Given the description of an element on the screen output the (x, y) to click on. 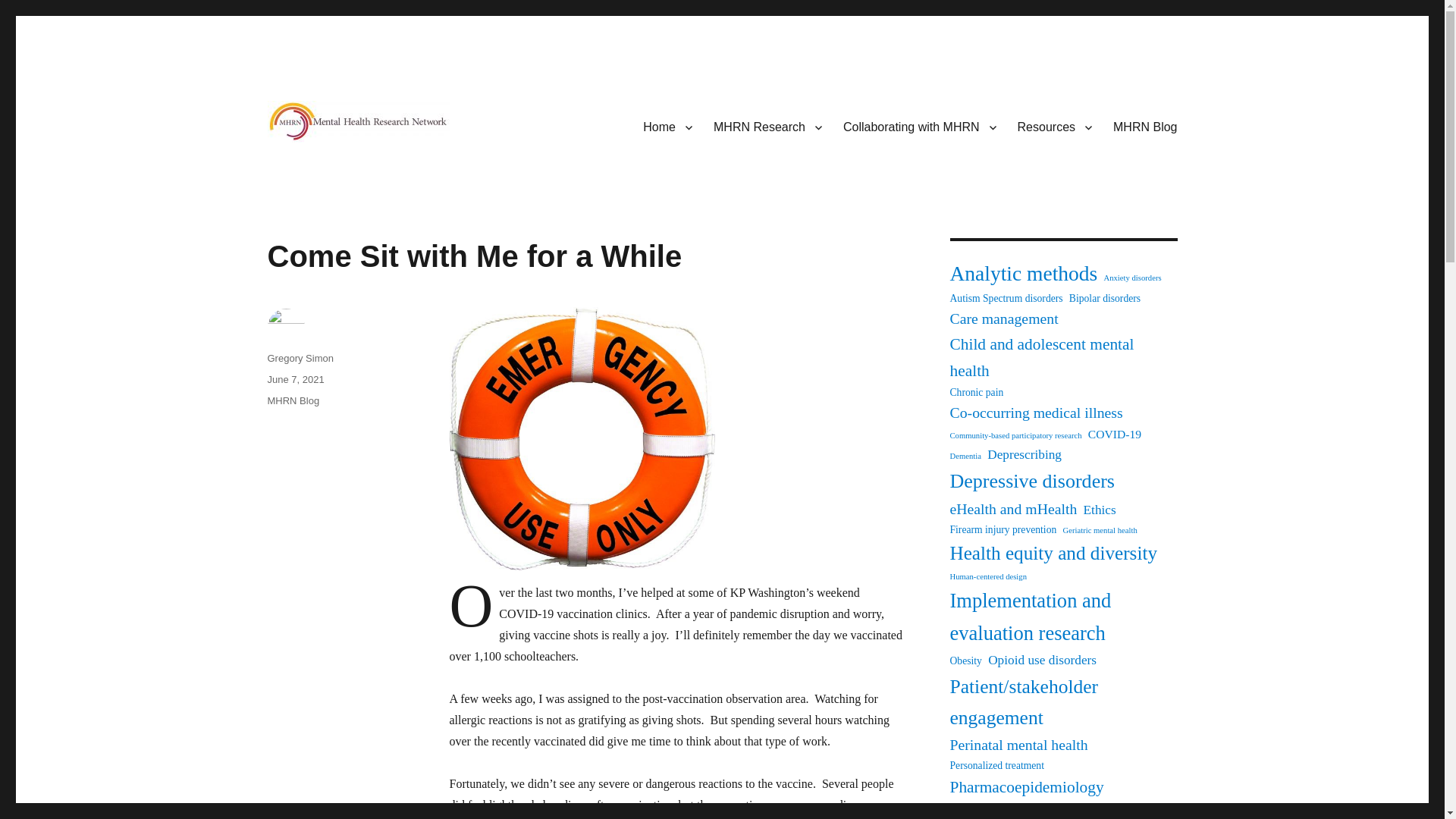
Collaborating with MHRN (919, 126)
Home (667, 126)
MHRN Blog (292, 400)
June 7, 2021 (294, 378)
MHRN Blog (1145, 126)
Gregory Simon (299, 357)
Resources (1054, 126)
MHRN Research (767, 126)
